Given the description of an element on the screen output the (x, y) to click on. 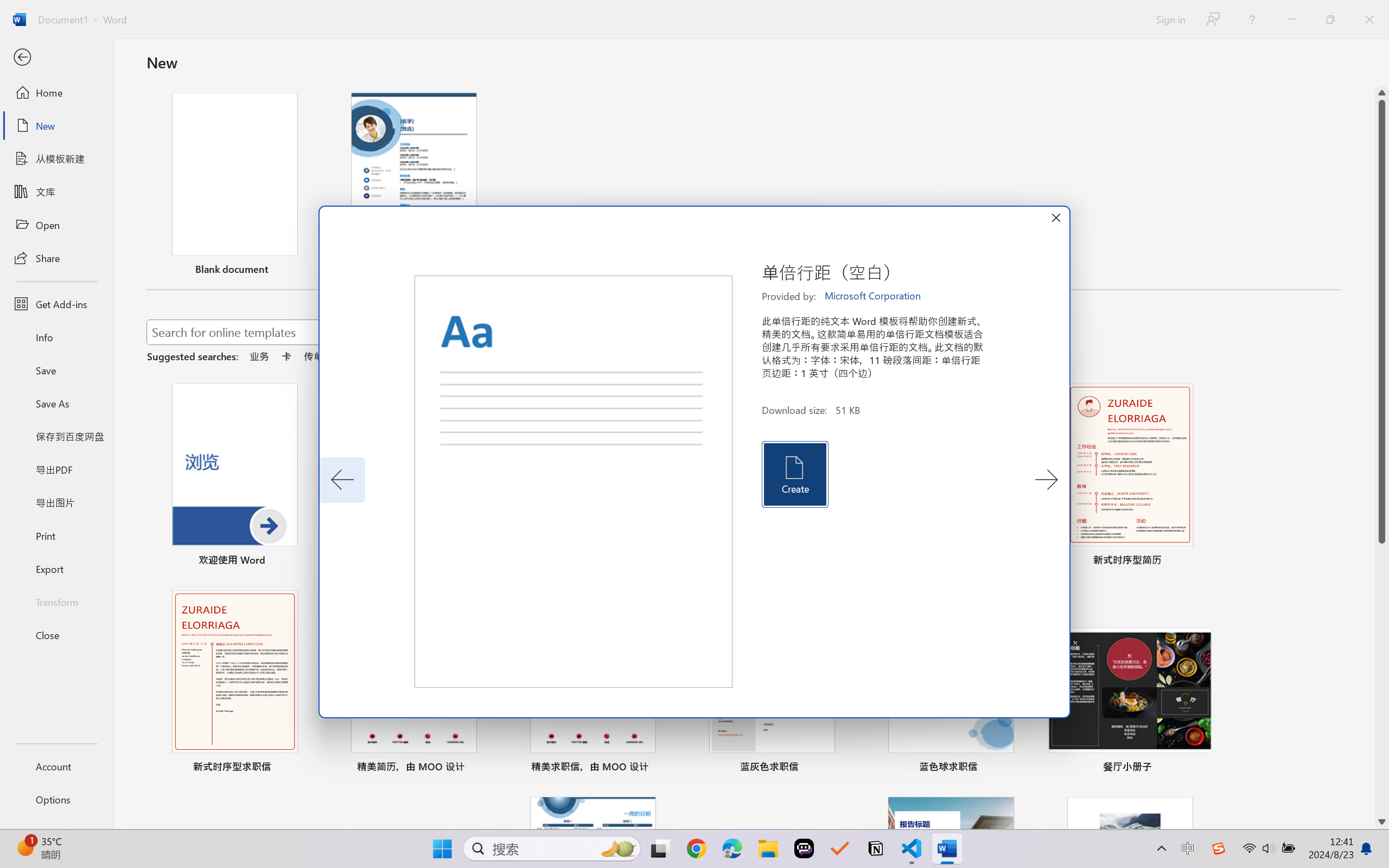
Page down (1382, 679)
Microsoft Edge (731, 848)
Print (56, 535)
Create (794, 473)
Previous Template (342, 479)
